Given the description of an element on the screen output the (x, y) to click on. 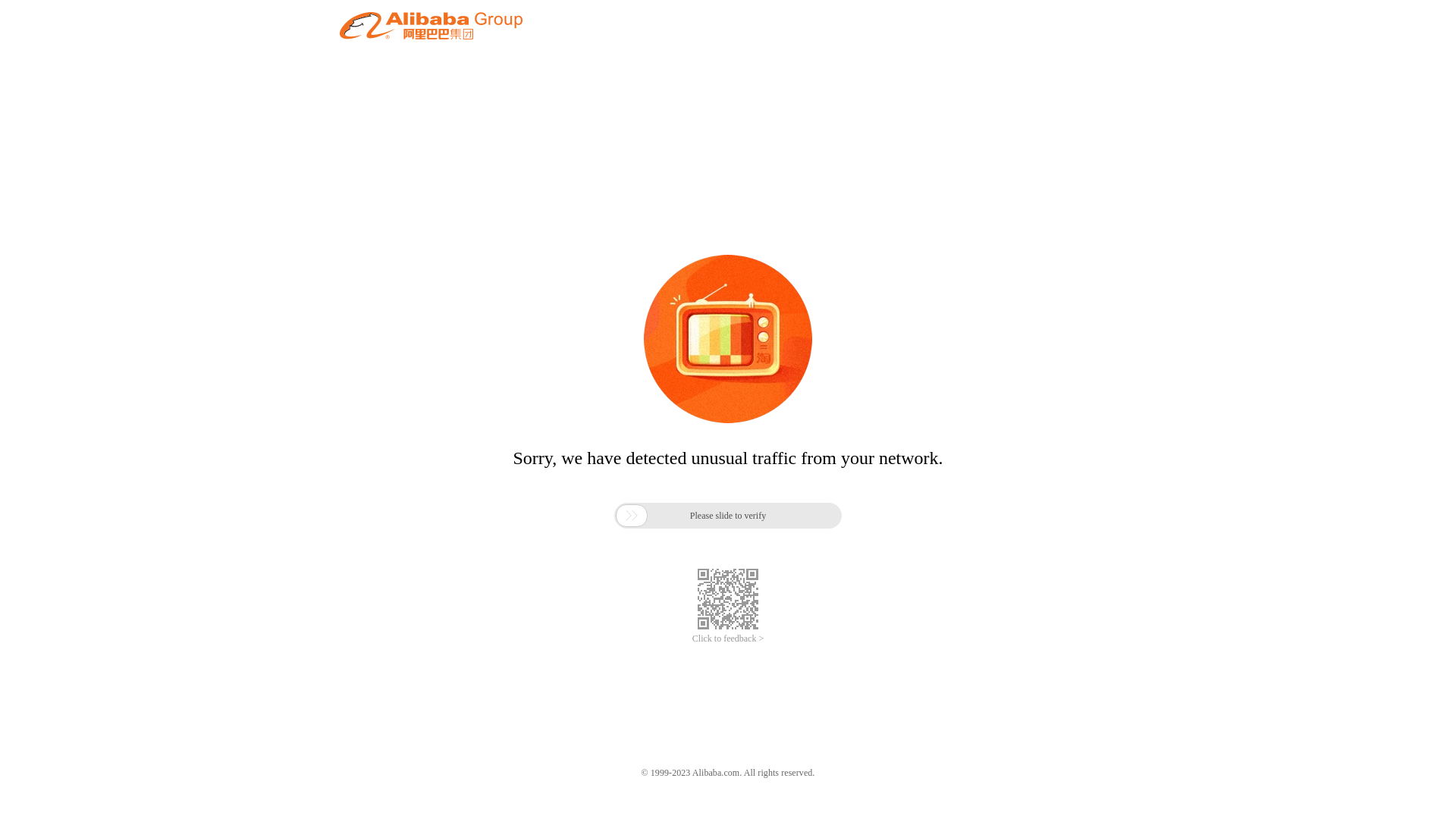
Click to feedback > Element type: text (727, 638)
